Given the description of an element on the screen output the (x, y) to click on. 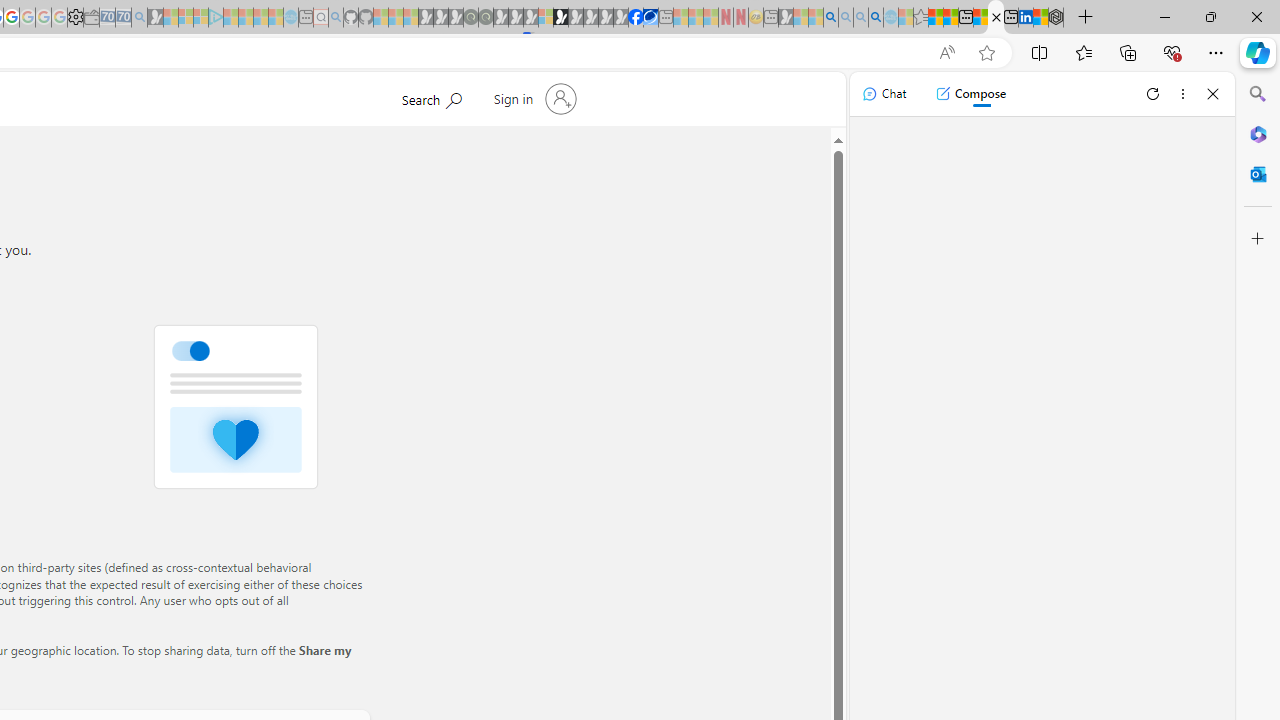
Search Microsoft.com (431, 97)
